Given the description of an element on the screen output the (x, y) to click on. 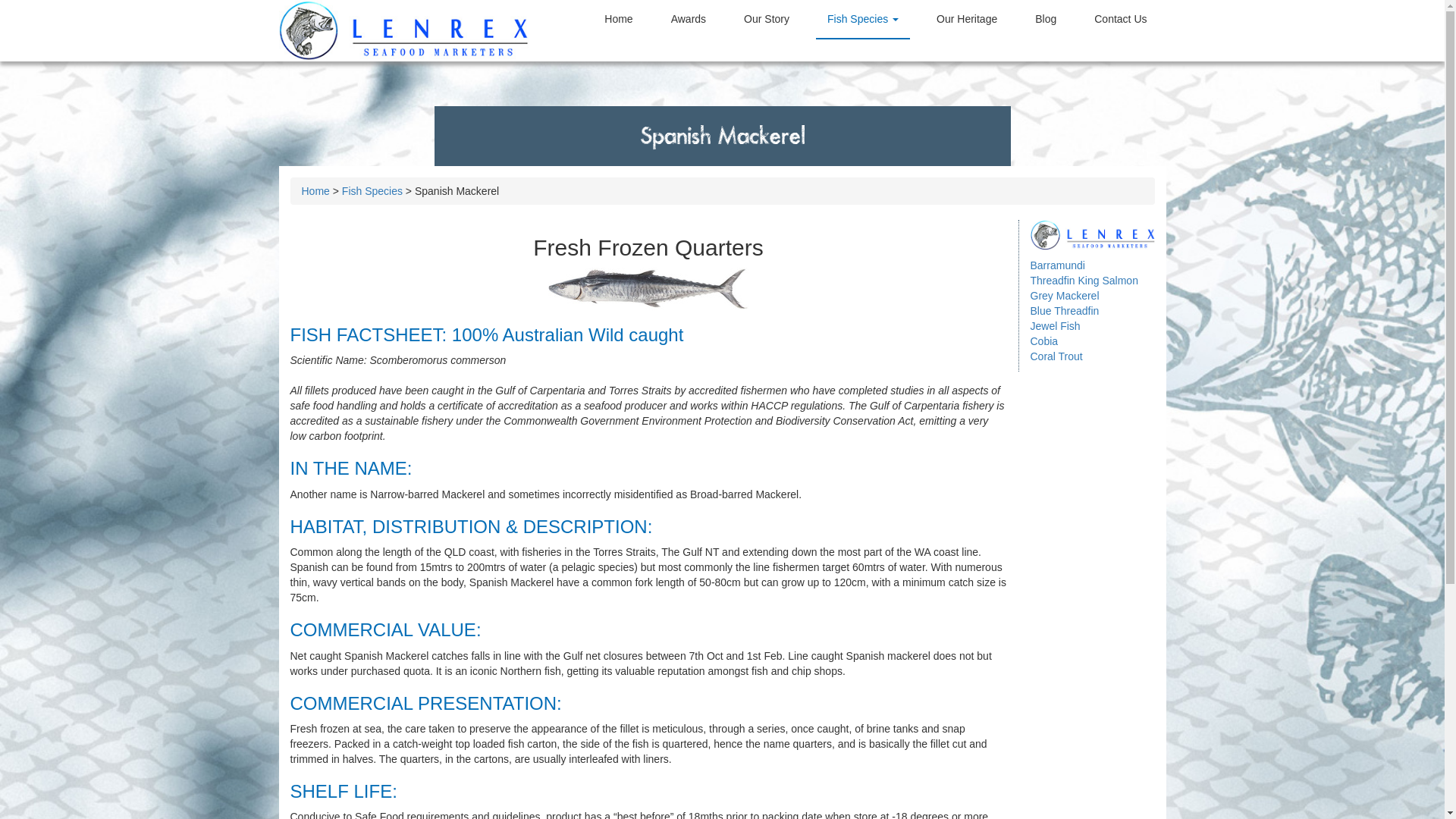
Cobia Element type: text (1043, 341)
Threadfin King Salmon Element type: text (1083, 280)
Barramundi Element type: text (1056, 265)
Grey Mackerel Element type: text (1063, 295)
Home Element type: text (618, 18)
Lenrex Seafood Marketers Logo Element type: hover (404, 30)
Blog Element type: text (1045, 18)
Coral Trout Element type: text (1055, 356)
Fish Species Element type: text (372, 191)
Fish Species Element type: text (862, 18)
Home Element type: text (315, 191)
Blue Threadfin Element type: text (1063, 310)
Contact Us Element type: text (1119, 18)
Our Story Element type: text (766, 18)
Jewel Fish Element type: text (1054, 326)
Awards Element type: text (688, 18)
Our Heritage Element type: text (966, 18)
